Given the description of an element on the screen output the (x, y) to click on. 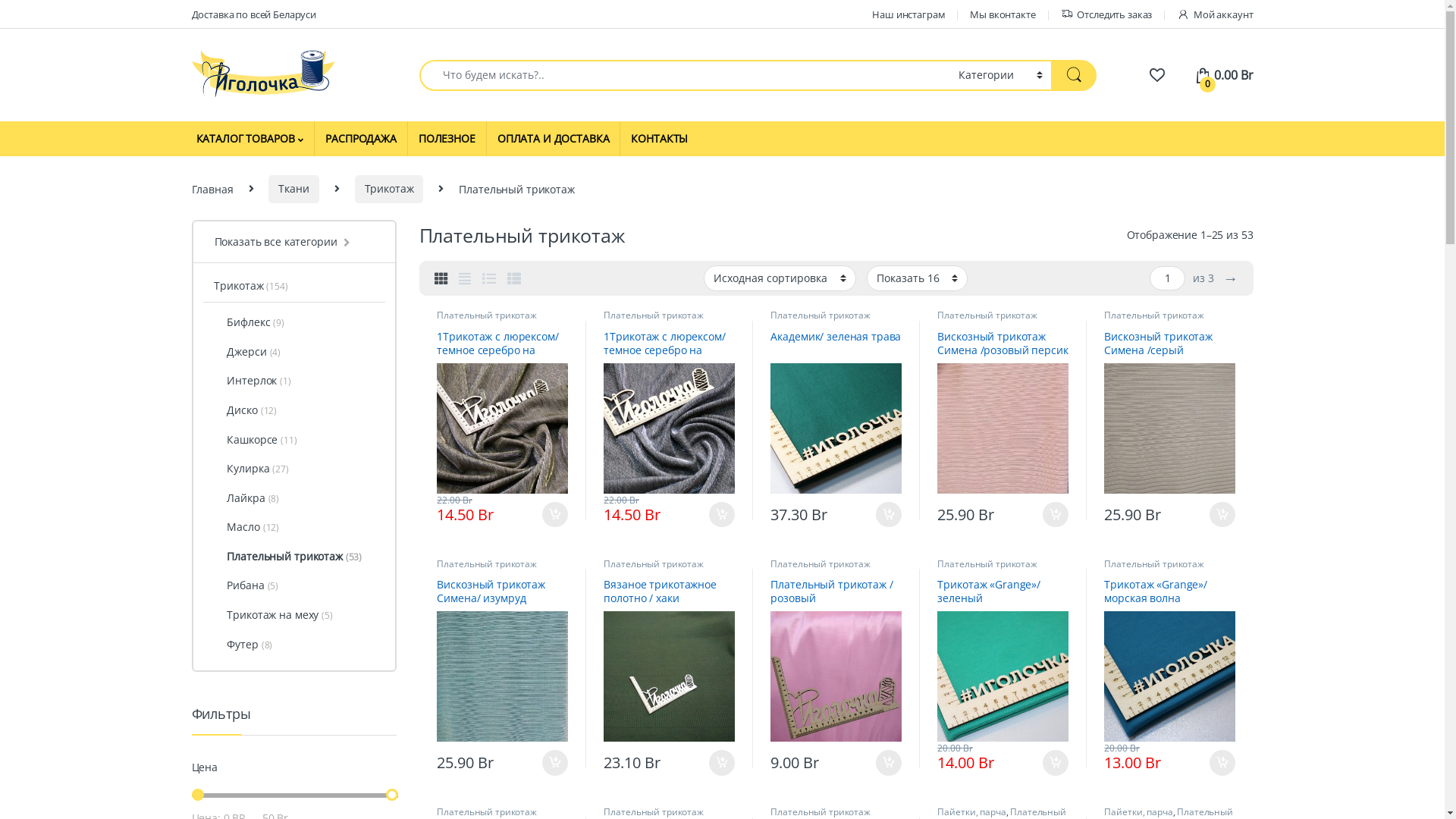
0
0.00 Br Element type: text (1223, 74)
